Given the description of an element on the screen output the (x, y) to click on. 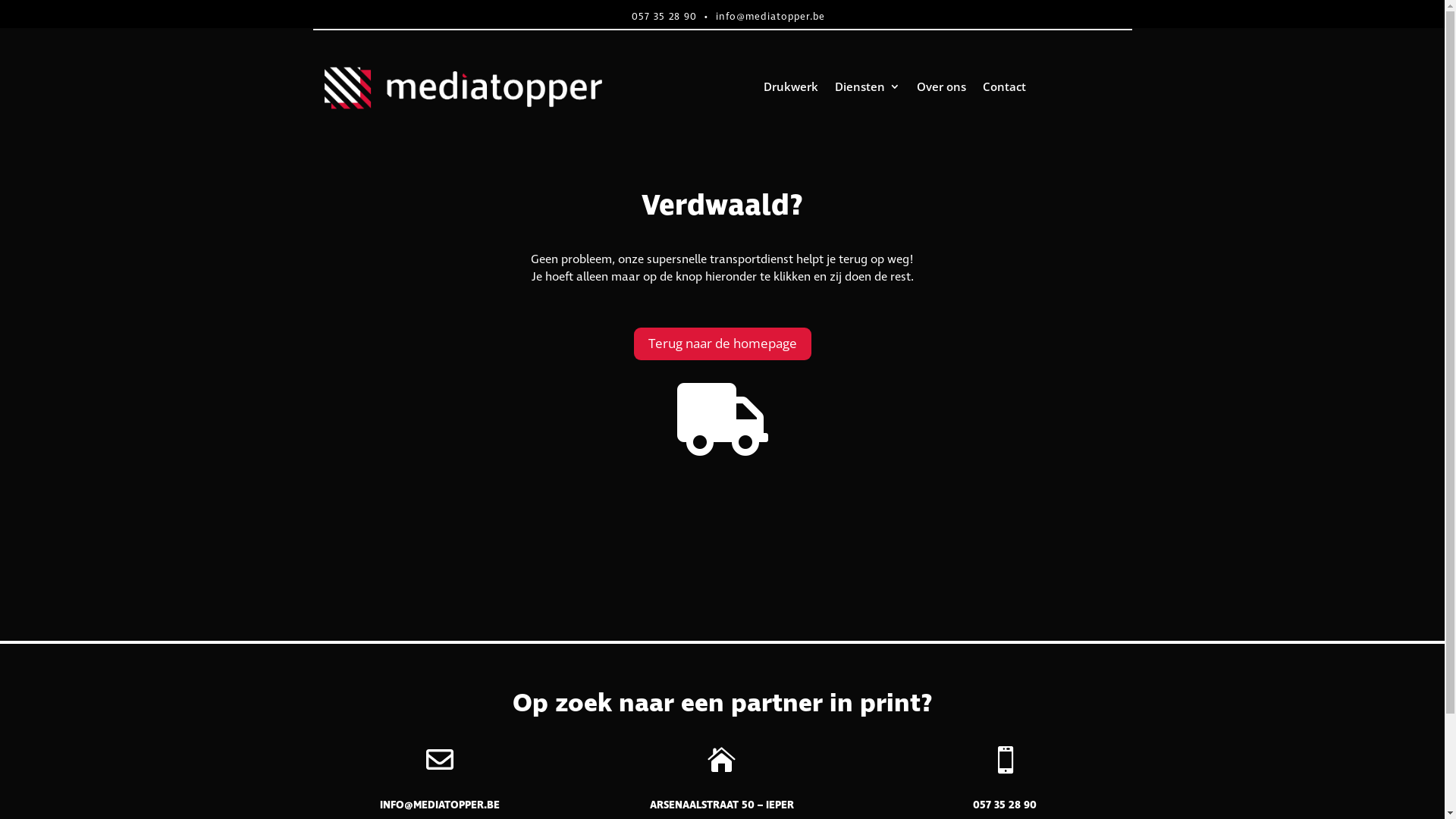
Diensten Element type: text (867, 89)
Terug naar de homepage Element type: text (722, 343)
Drukwerk Element type: text (790, 89)
info@mediatopper.be Element type: text (770, 16)
Over ons Element type: text (941, 89)
057 35 28 90 Element type: text (663, 16)
INFO@MEDIATOPPER.BE Element type: text (439, 804)
Contact Element type: text (1004, 89)
